Given the description of an element on the screen output the (x, y) to click on. 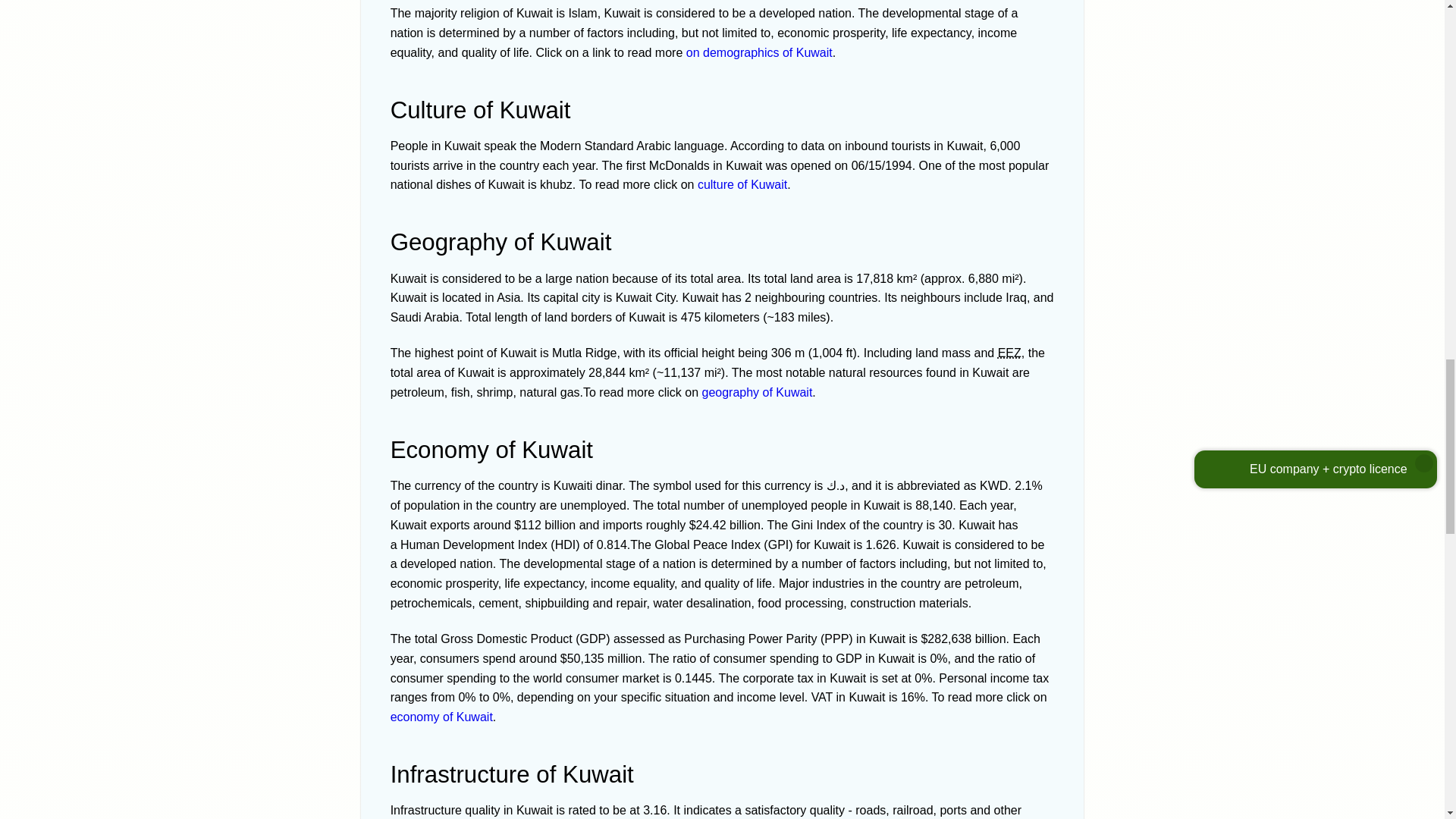
economy of Kuwait (441, 716)
culture of Kuwait (742, 184)
geography of Kuwait (756, 391)
on demographics of Kuwait (758, 51)
